Given the description of an element on the screen output the (x, y) to click on. 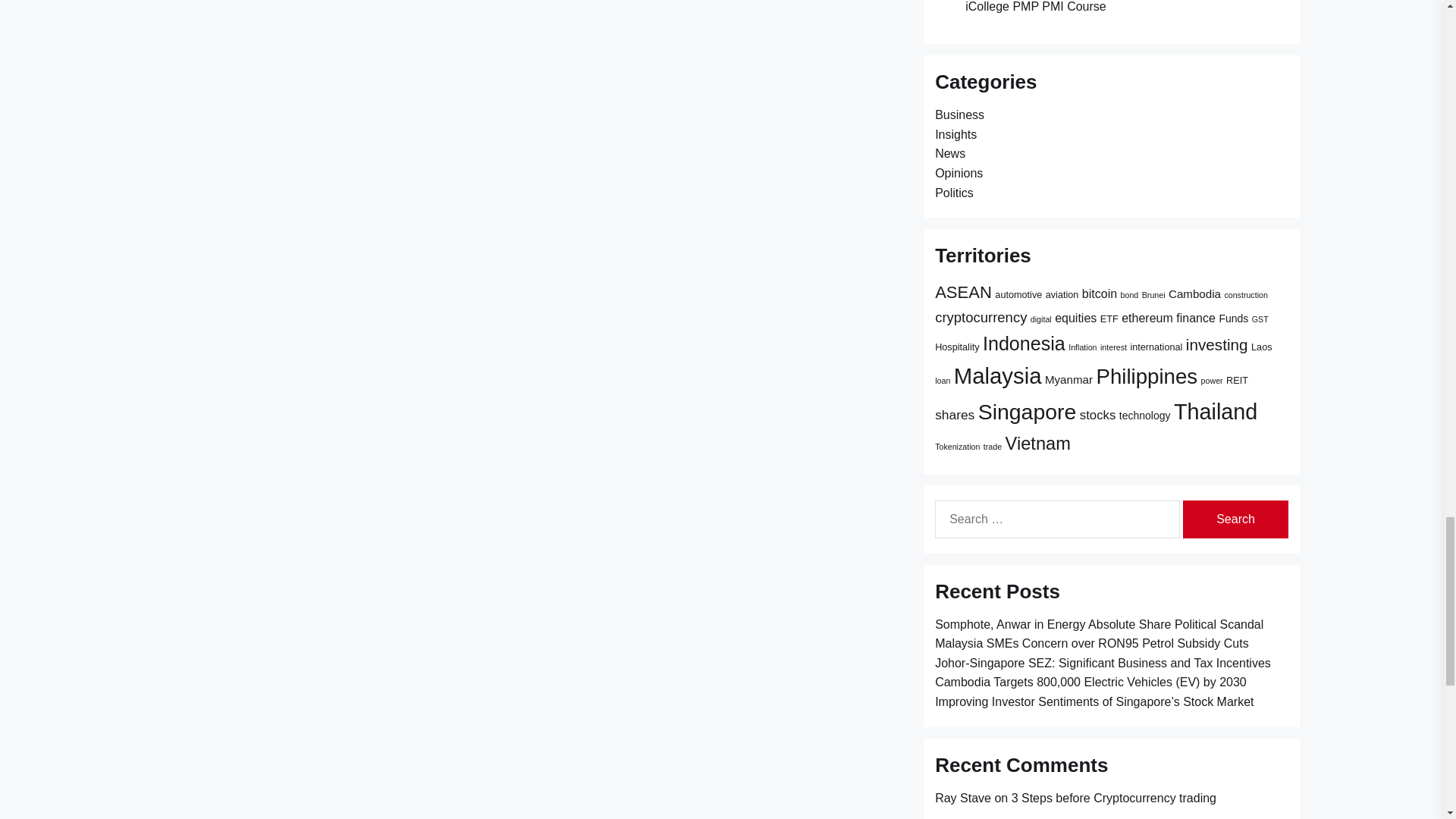
Search (1235, 519)
Search (1235, 519)
